Given the description of an element on the screen output the (x, y) to click on. 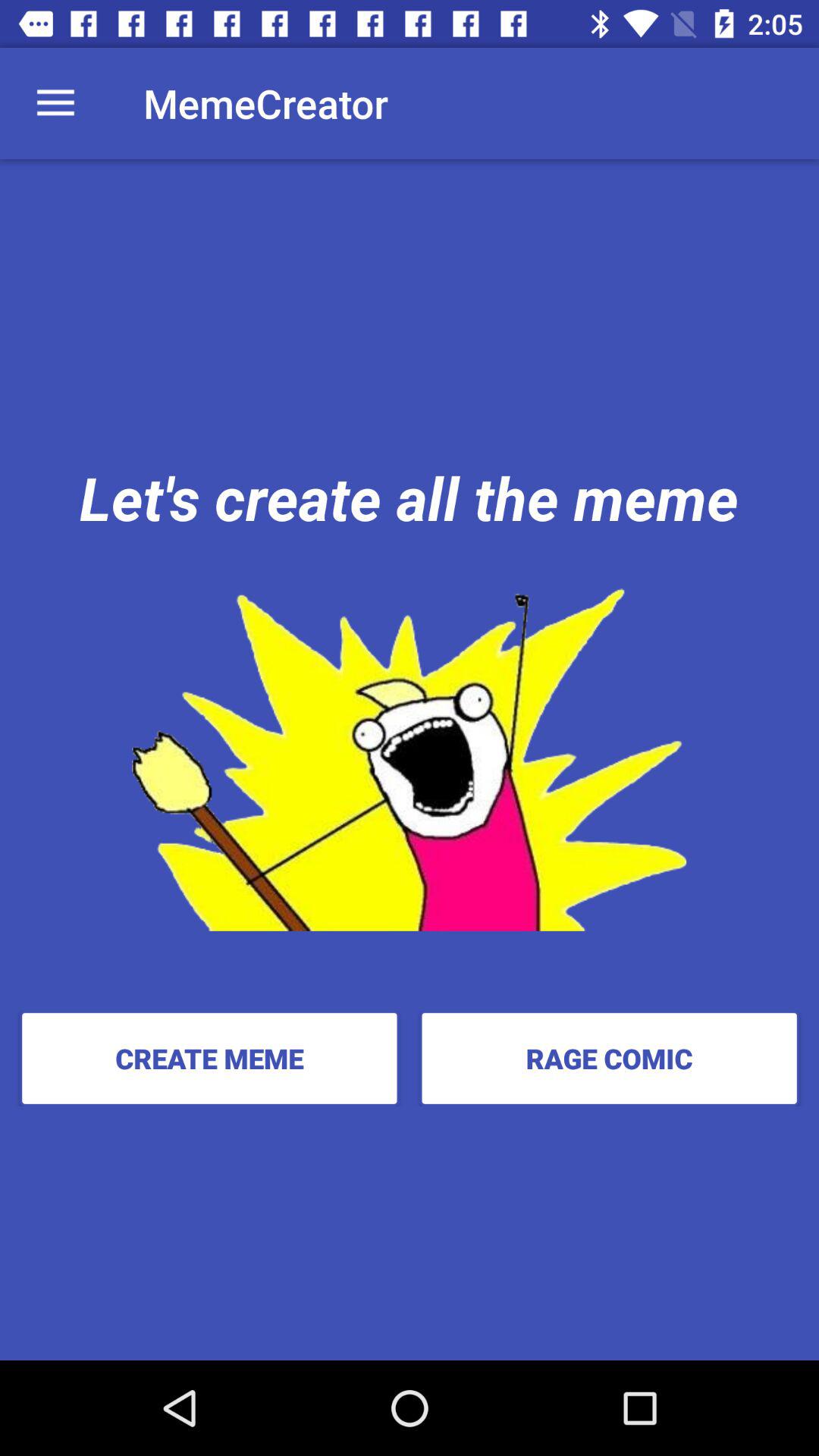
choose item to the left of the memecreator item (55, 103)
